Given the description of an element on the screen output the (x, y) to click on. 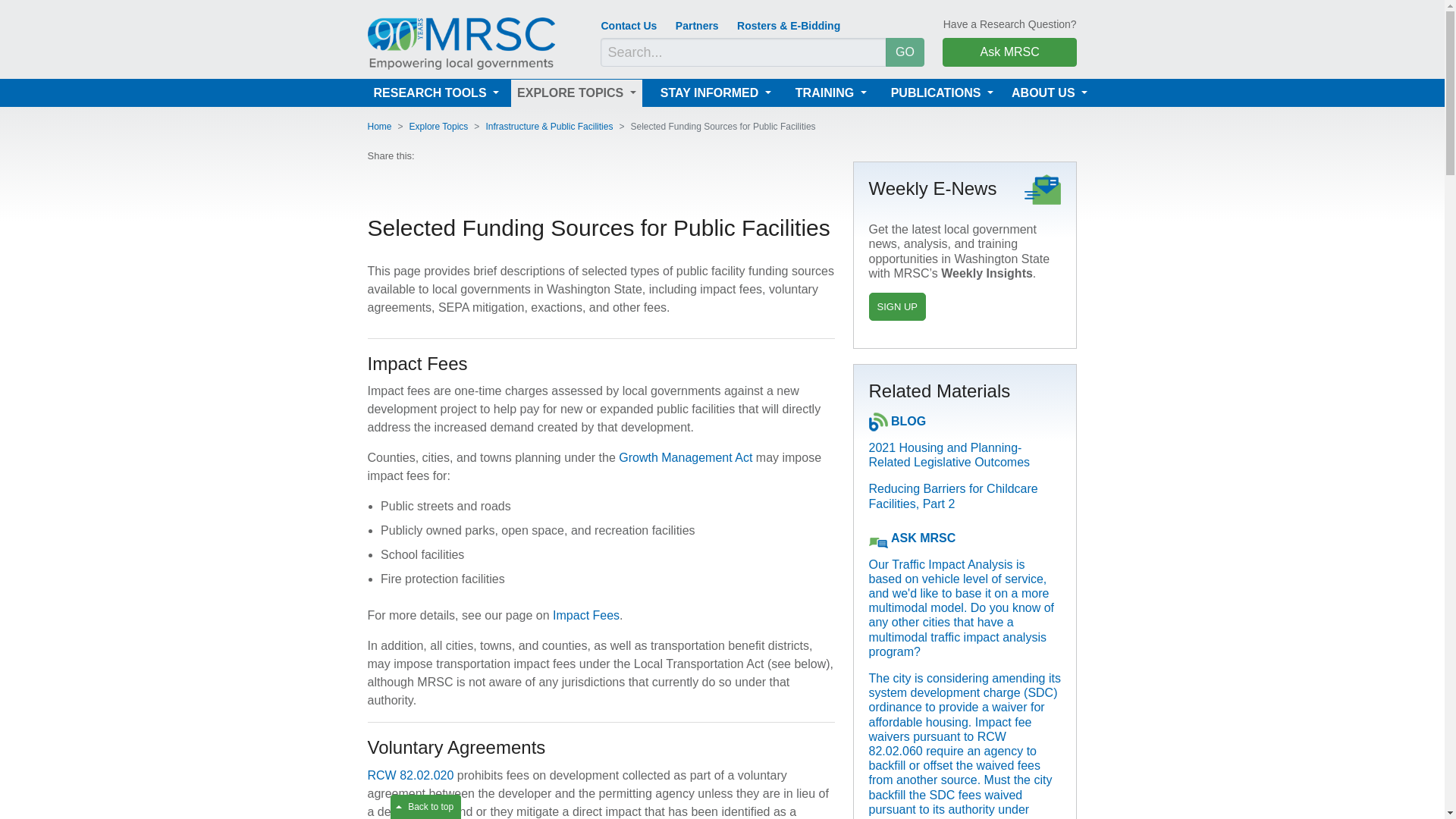
2021 Housing and Planning-Related Legislative Outcomes (949, 454)
Contact Us (627, 25)
Training (830, 93)
GO (904, 51)
Research Tools (435, 93)
About Us (1049, 93)
RESEARCH TOOLS (435, 93)
BLOG section (908, 421)
ASK MRSC section (923, 537)
Publications (941, 93)
Explore Topics (576, 93)
Partners (697, 25)
MRSC logo (460, 43)
Ask MRSC (1009, 51)
Reducing Barriers for Childcare Facilities, Part 2 (953, 495)
